Given the description of an element on the screen output the (x, y) to click on. 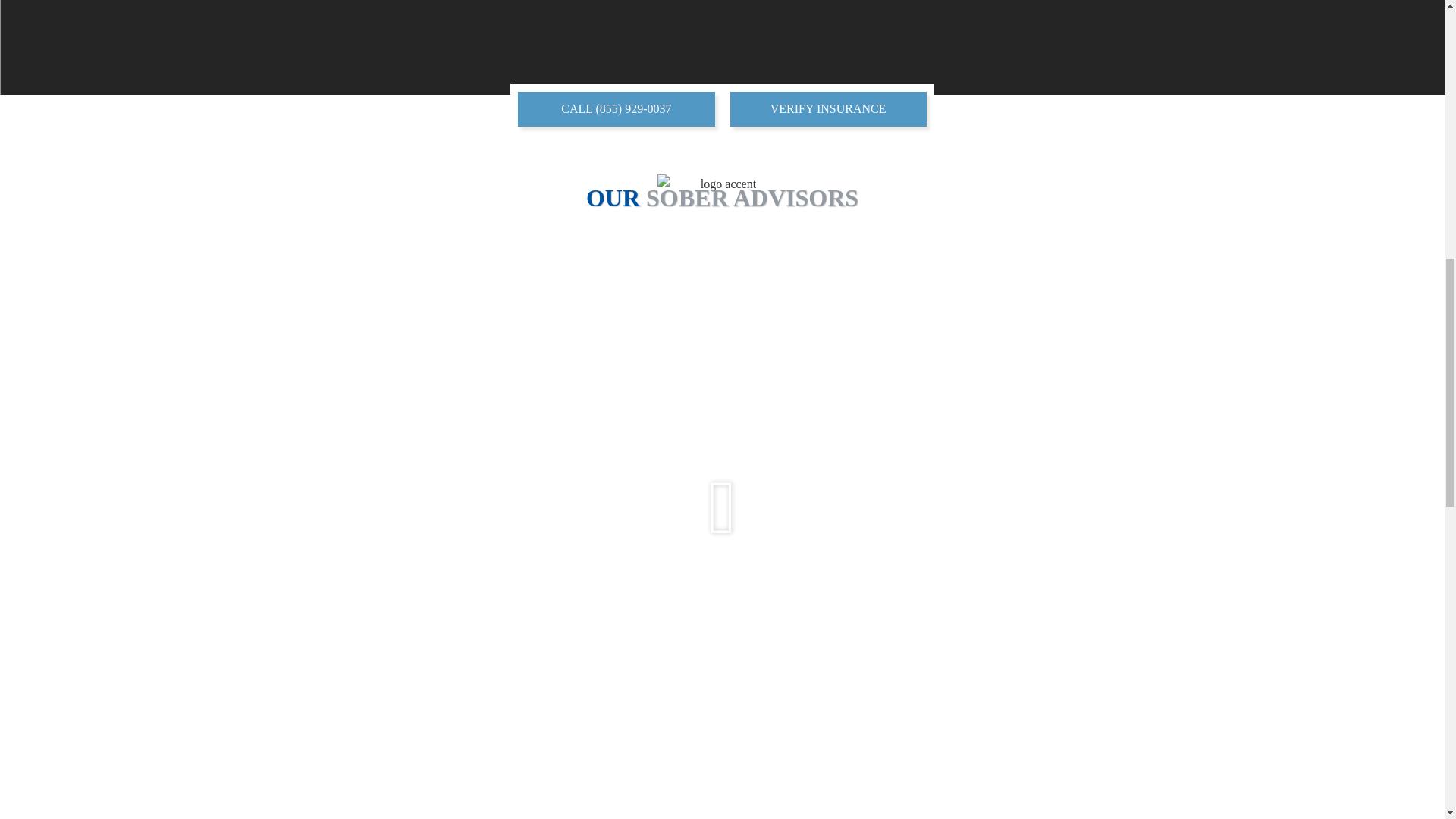
VERIFY INSURANCE (827, 108)
